Given the description of an element on the screen output the (x, y) to click on. 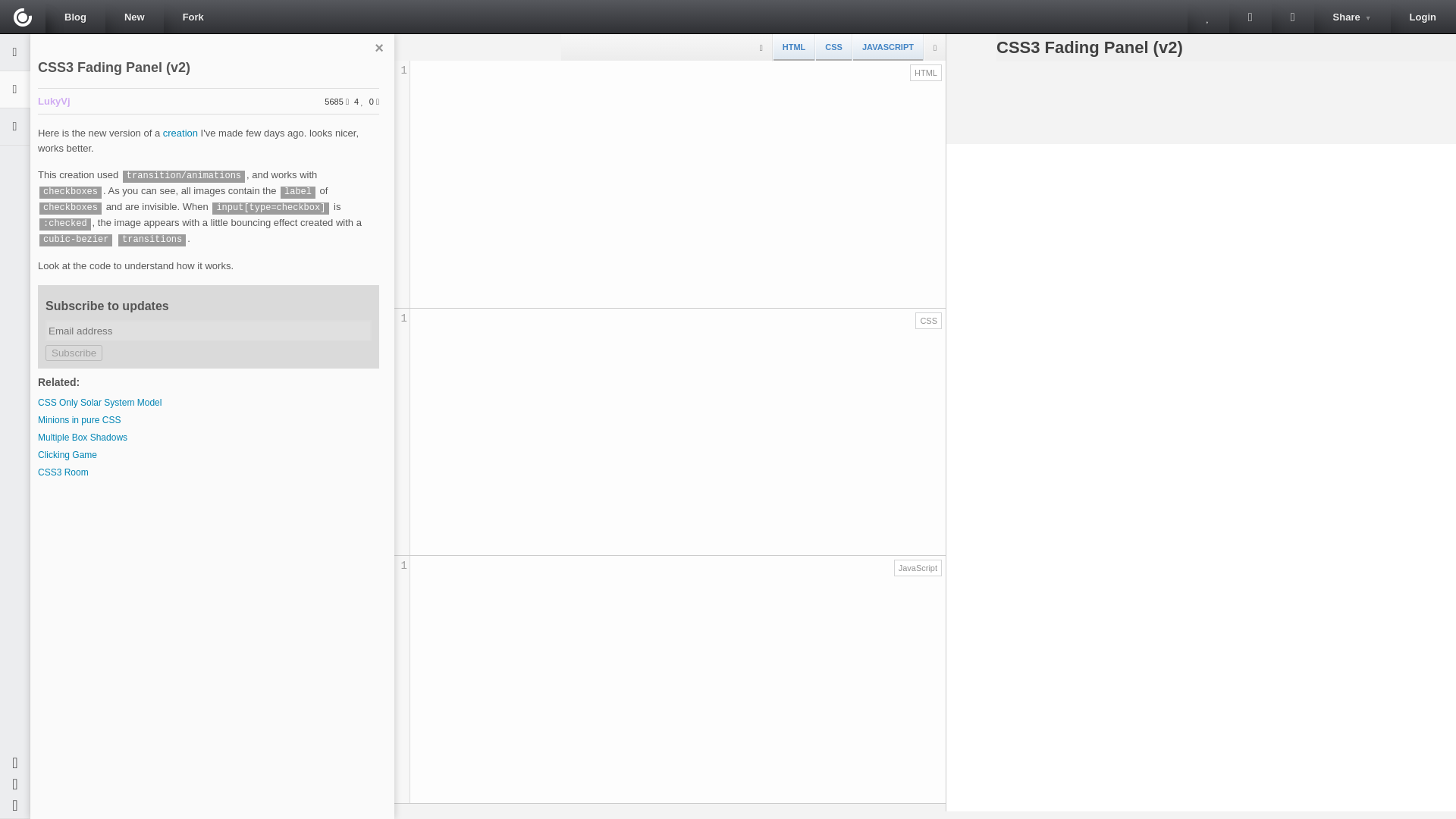
Labs (22, 17)
Blog (74, 17)
Share (78, 419)
New (1352, 17)
Login (133, 17)
CSS3 Room (1422, 17)
CSS Only Solar System Model (62, 471)
Subscribe (1249, 17)
Subscribe (99, 402)
Fork (73, 352)
LukyVj (73, 352)
